Given the description of an element on the screen output the (x, y) to click on. 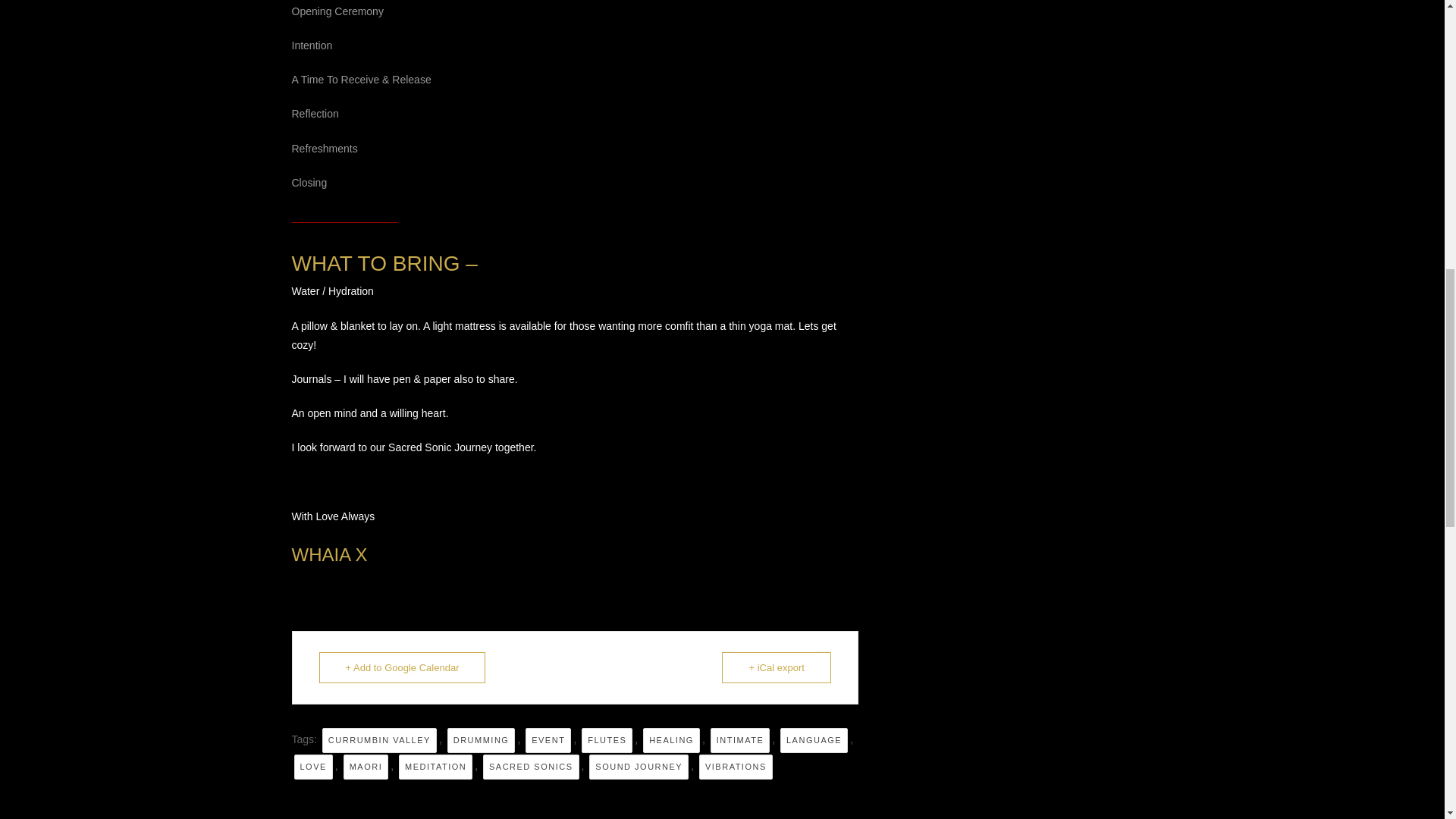
CURRUMBIN VALLEY (378, 740)
LANGUAGE (813, 740)
VIBRATIONS (735, 766)
LOVE (313, 766)
INTIMATE (740, 740)
MEDITATION (434, 766)
MAORI (365, 766)
HEALING (671, 740)
FLUTES (605, 740)
DRUMMING (480, 740)
SOUND JOURNEY (638, 766)
EVENT (547, 740)
SACRED SONICS (531, 766)
